Given the description of an element on the screen output the (x, y) to click on. 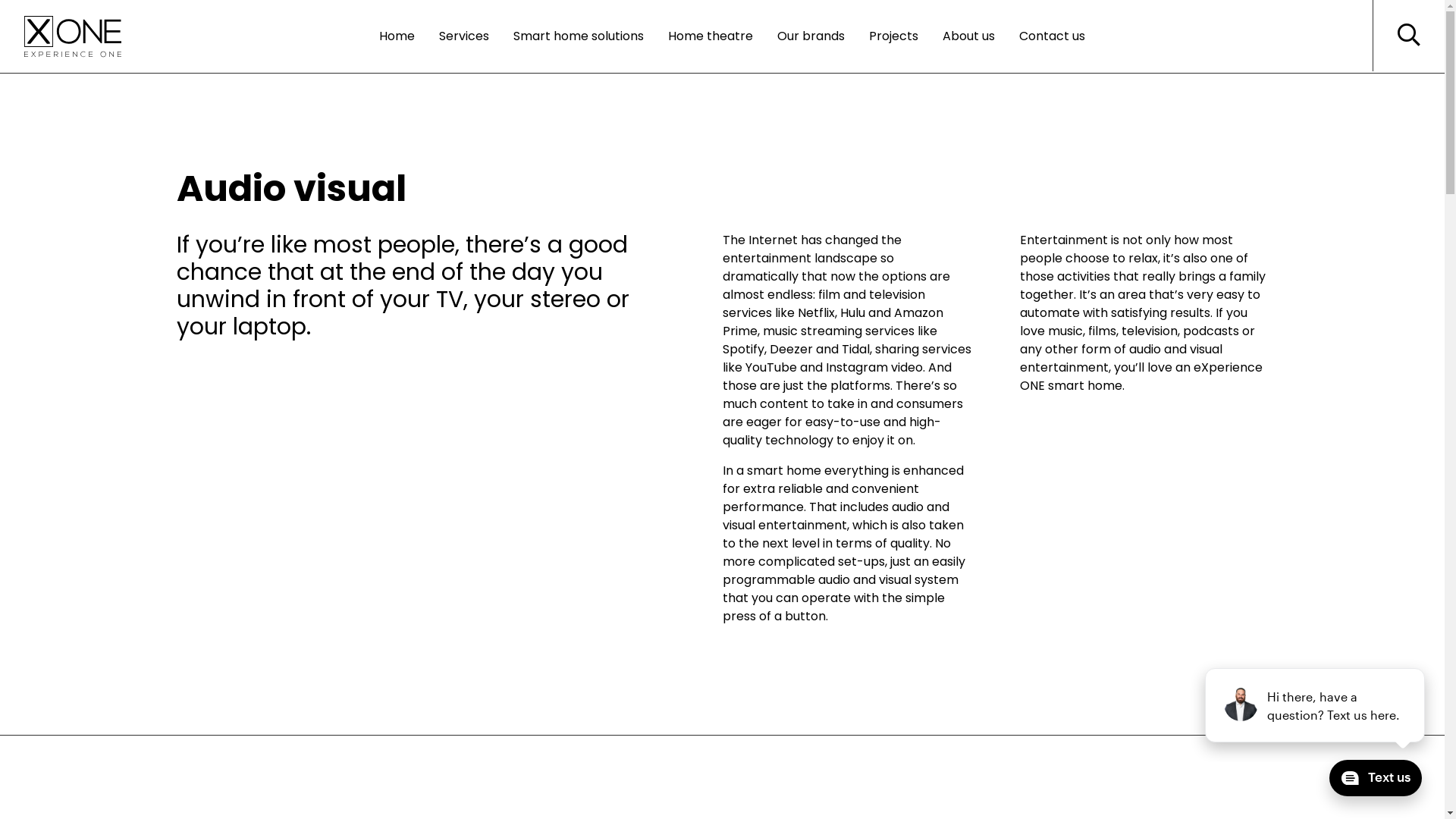
Smart home solutions Element type: text (578, 36)
Services Element type: text (464, 36)
Our brands Element type: text (810, 36)
Projects Element type: text (893, 36)
Home theatre Element type: text (710, 36)
About us Element type: text (968, 36)
Home Element type: text (396, 36)
Contact us Element type: text (1052, 36)
podium webchat widget prompt Element type: hover (1315, 705)
